Given the description of an element on the screen output the (x, y) to click on. 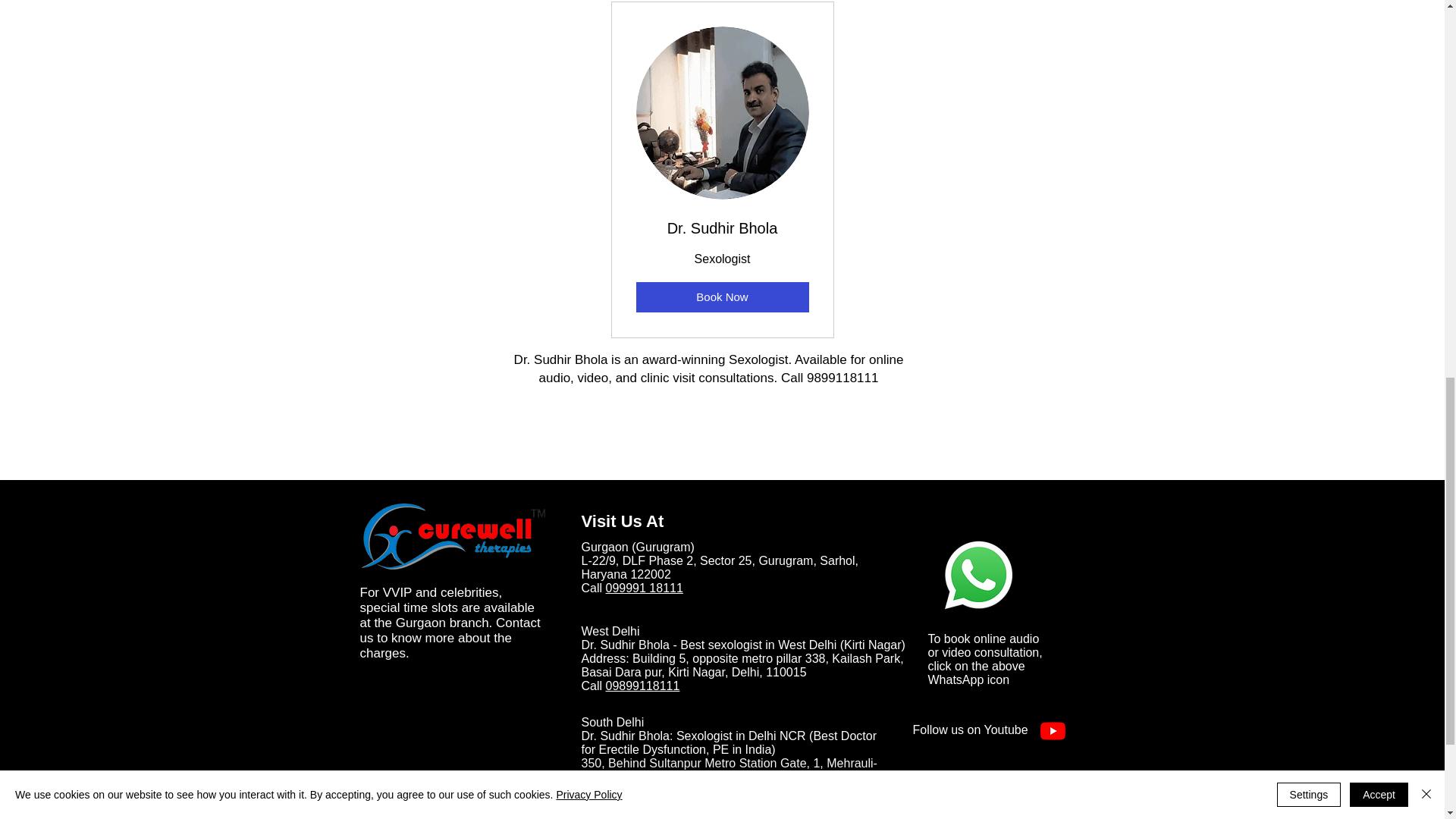
09899118111 (642, 789)
Curewell Therapies (451, 536)
Book Now (721, 296)
099991 18111 (643, 587)
Dr. Sudhir Bhola online consultation (978, 574)
09899118111 (642, 685)
